Given the description of an element on the screen output the (x, y) to click on. 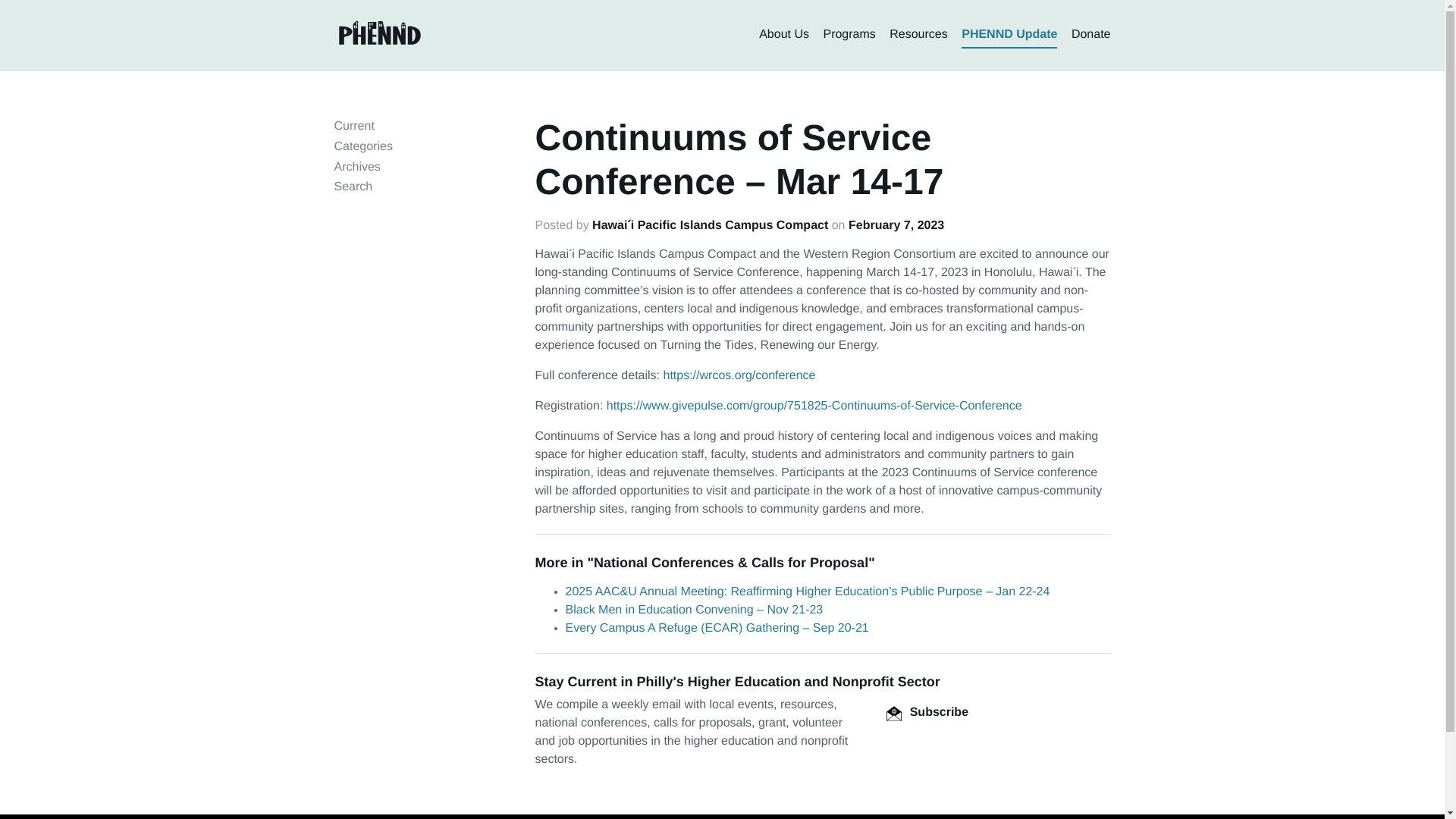
About Us (783, 34)
Archives (356, 166)
Resources (918, 34)
Programs (848, 34)
Current (353, 125)
Search (352, 186)
PHENND Update (1008, 35)
Subscribe (927, 712)
Categories (362, 146)
February 7, 2023 (895, 225)
